Given the description of an element on the screen output the (x, y) to click on. 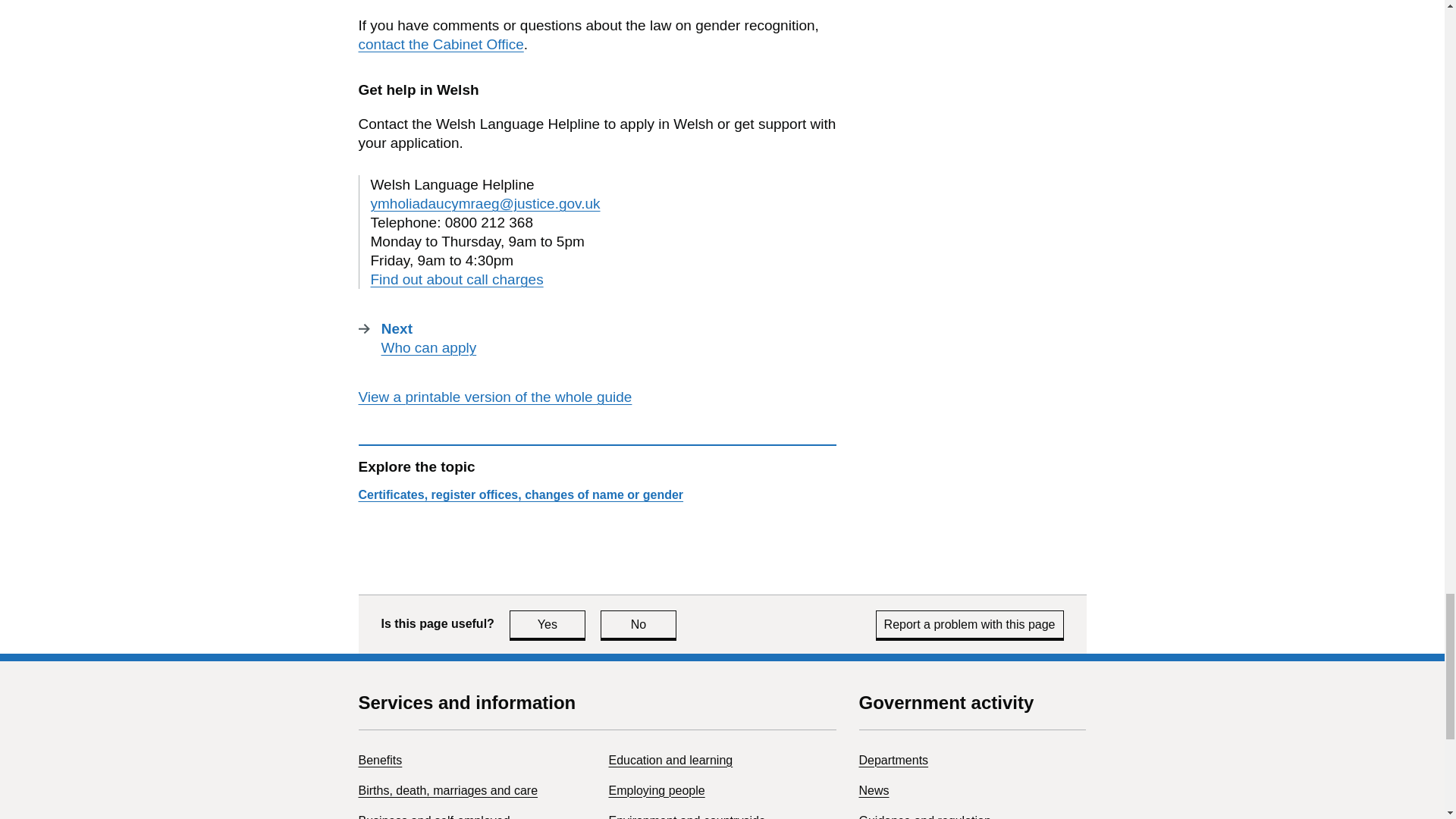
contact the Cabinet Office (440, 44)
Certificates, register offices, changes of name or gender (547, 624)
View a printable version of the whole guide (520, 494)
Find out about call charges (494, 396)
